Given the description of an element on the screen output the (x, y) to click on. 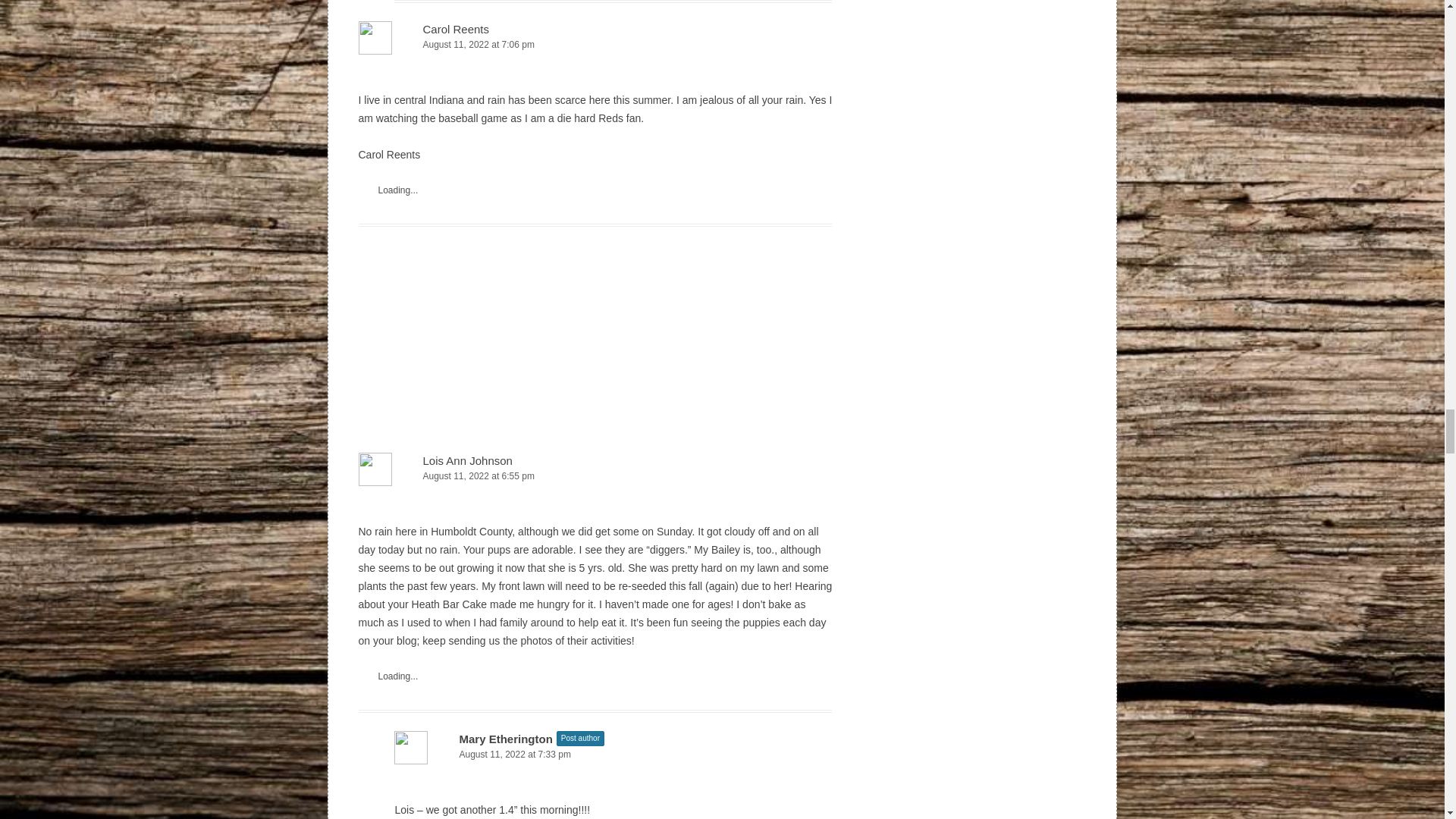
August 11, 2022 at 6:55 pm (594, 476)
August 11, 2022 at 7:06 pm (594, 44)
August 11, 2022 at 7:33 pm (612, 754)
